Given the description of an element on the screen output the (x, y) to click on. 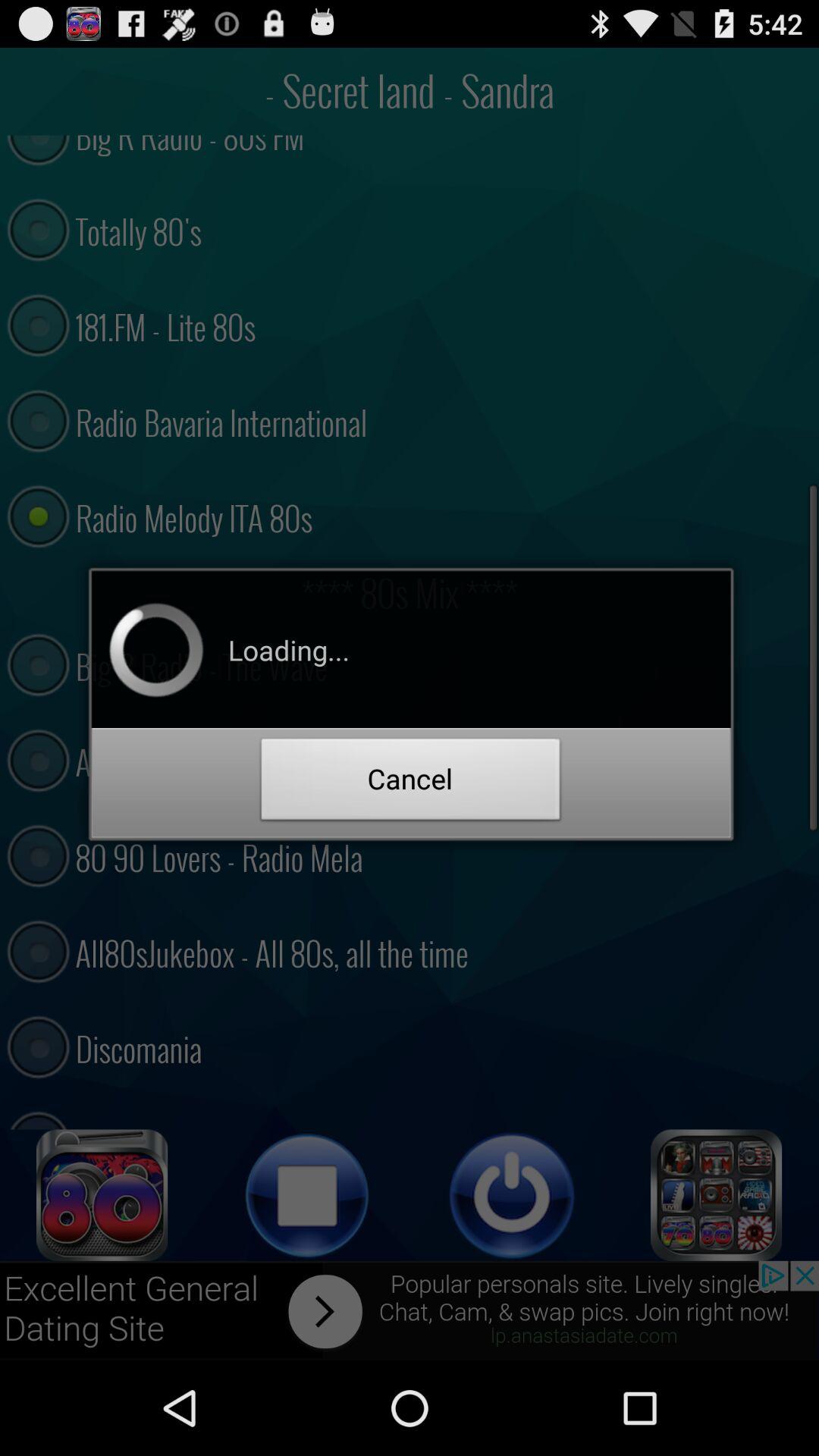
advertisement (409, 1310)
